Given the description of an element on the screen output the (x, y) to click on. 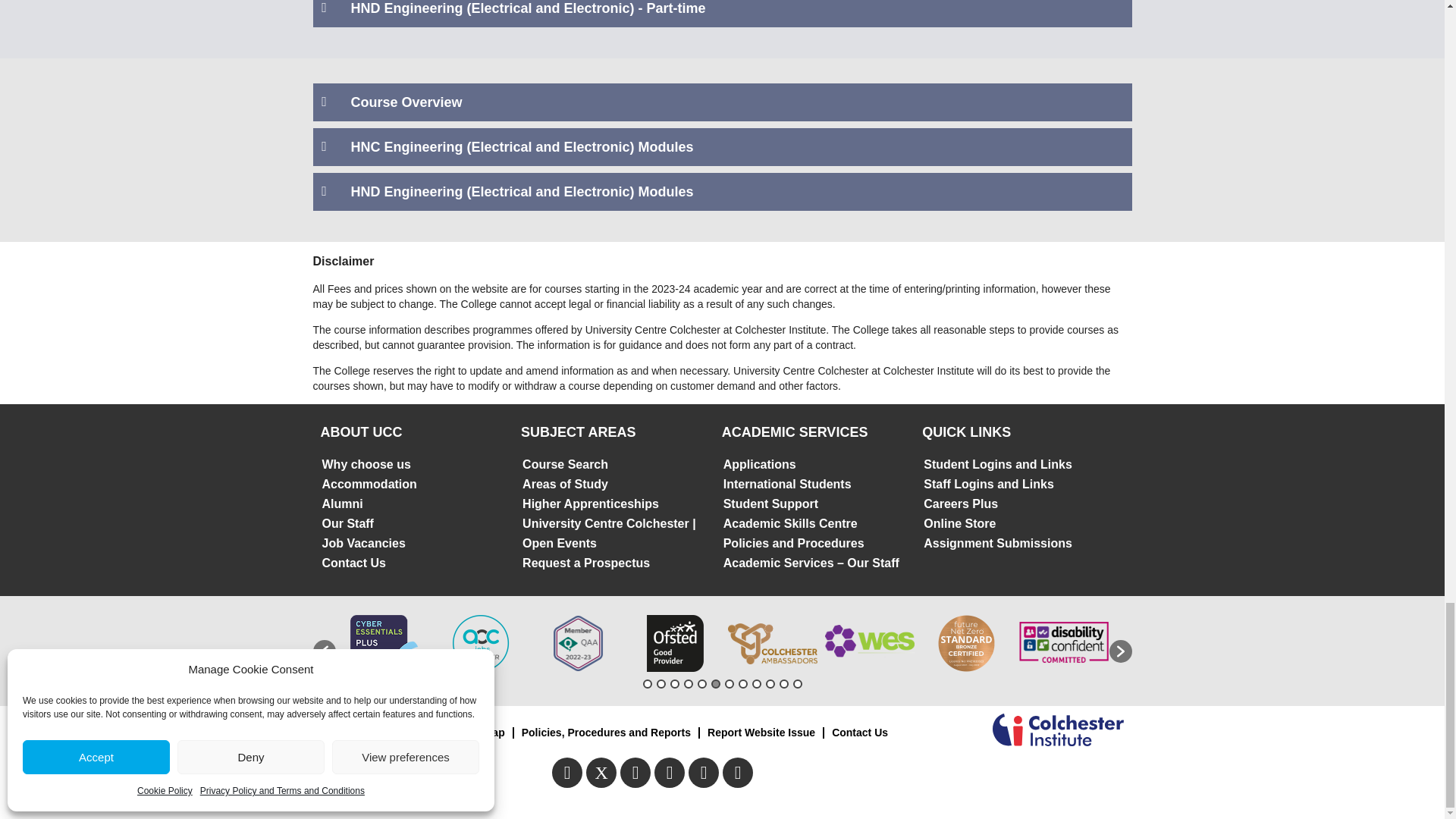
Facebook (566, 772)
Instagram (668, 772)
X (600, 772)
Youtube (635, 772)
Snapchat (703, 772)
